Given the description of an element on the screen output the (x, y) to click on. 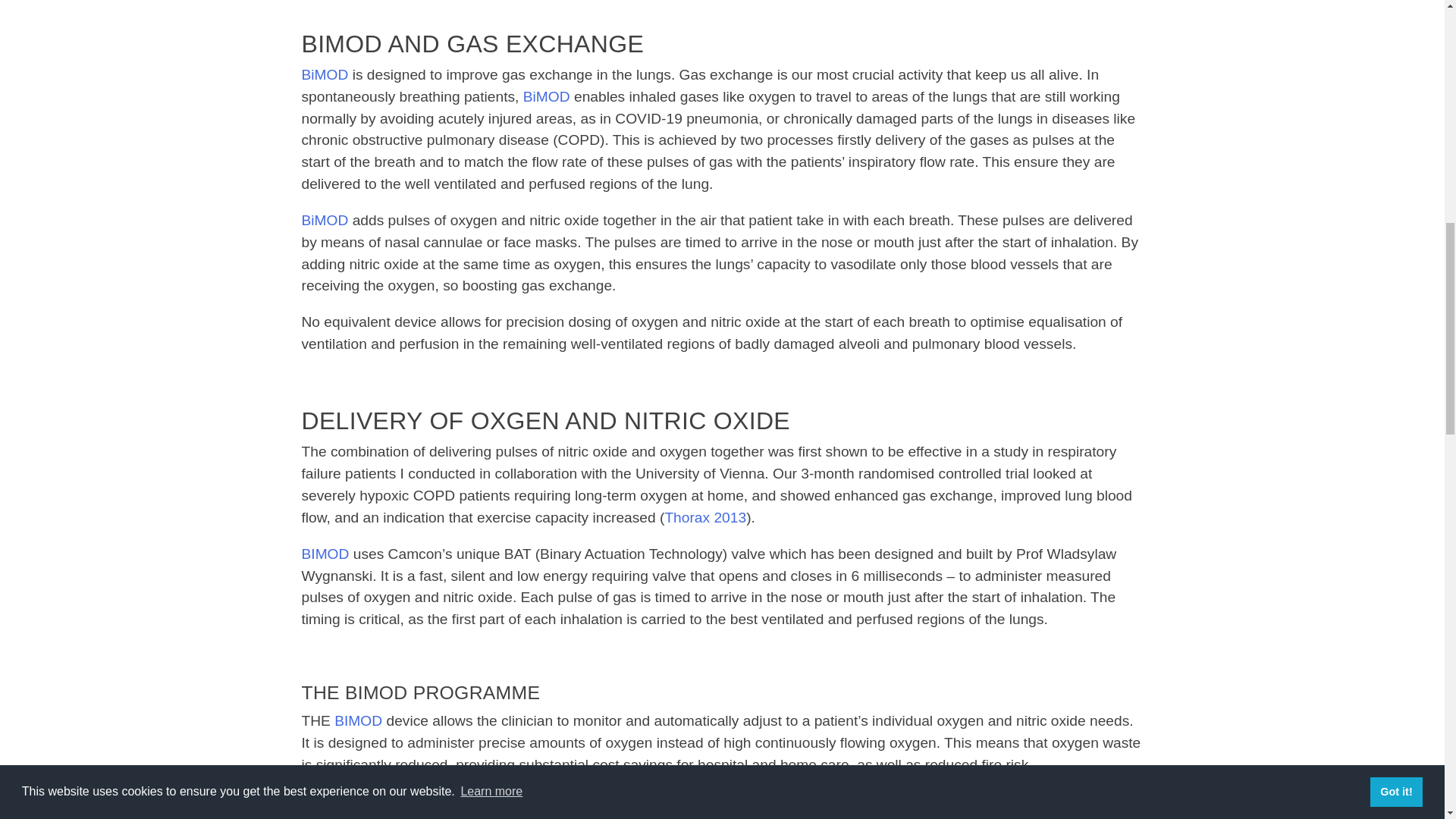
BiMOD (546, 96)
Thorax 2013 (704, 517)
BiMOD (325, 74)
BiMOD (325, 220)
BIMOD (357, 720)
BIMOD (325, 553)
